Given the description of an element on the screen output the (x, y) to click on. 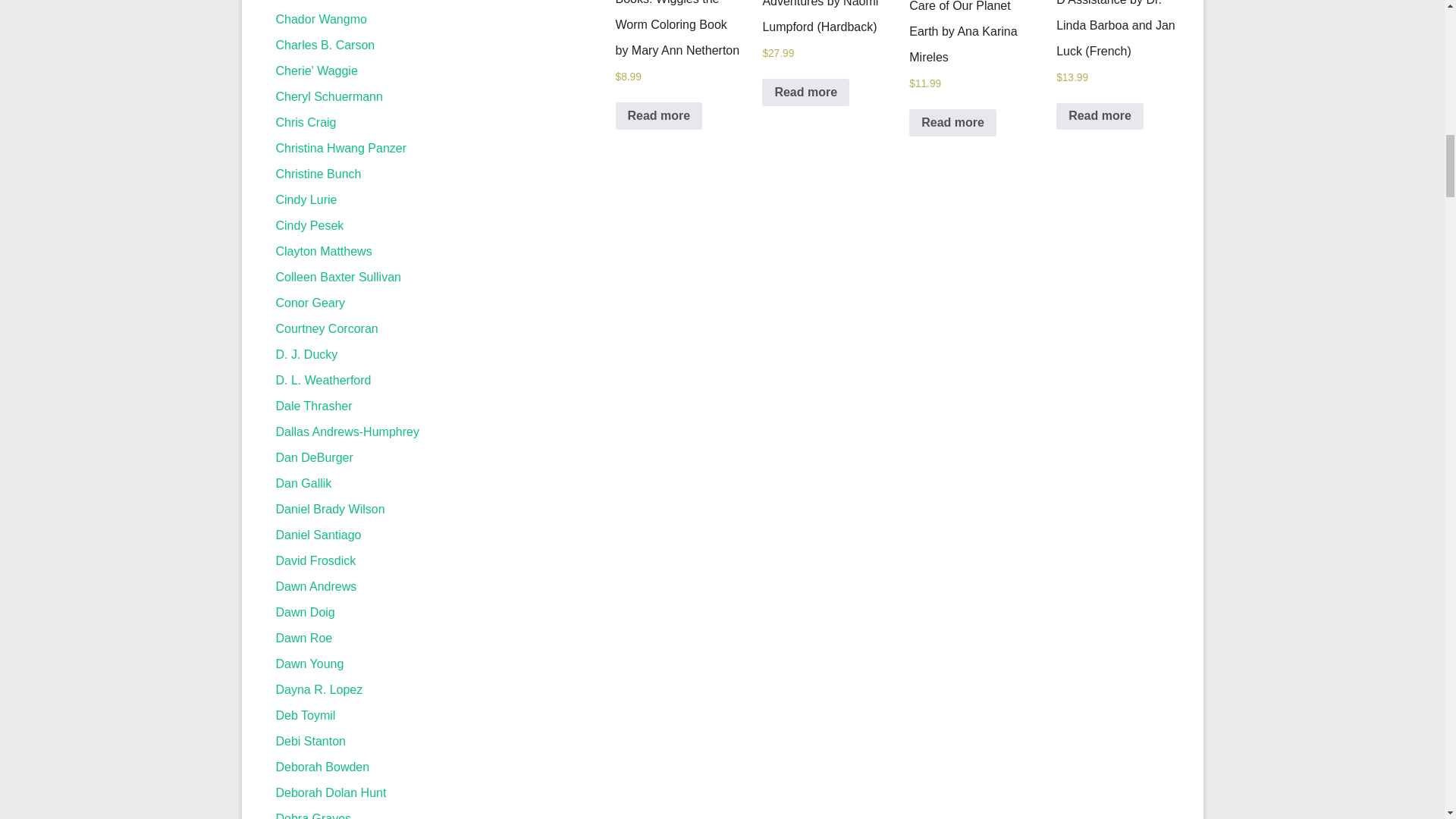
Read more (951, 122)
Read more (804, 92)
Read more (659, 115)
Read more (1099, 116)
